Given the description of an element on the screen output the (x, y) to click on. 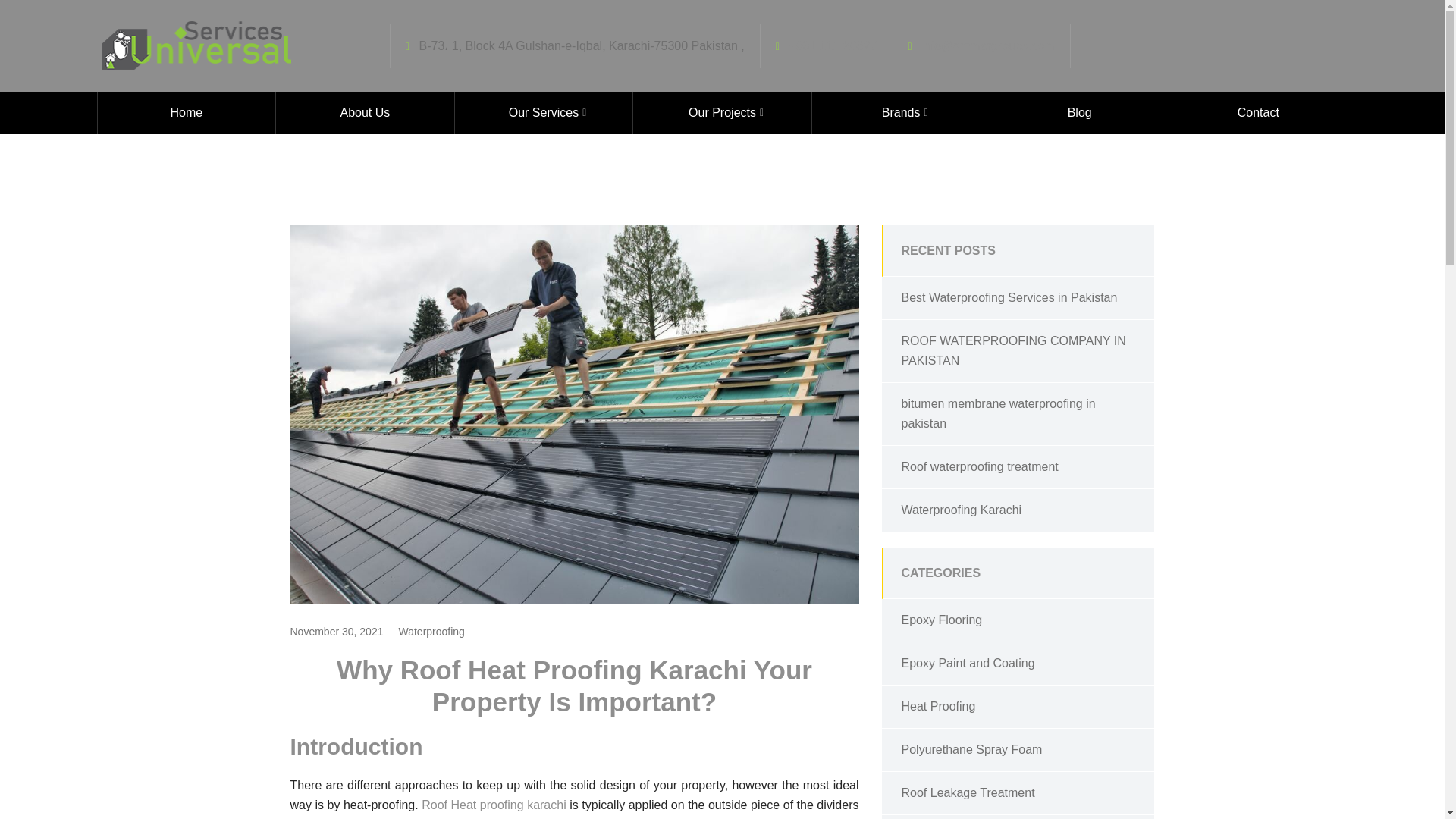
Home (186, 112)
Brands (901, 112)
Our Services (543, 112)
About Us (365, 112)
Our Projects (721, 112)
Contact (1258, 112)
Blog (1079, 112)
